Given the description of an element on the screen output the (x, y) to click on. 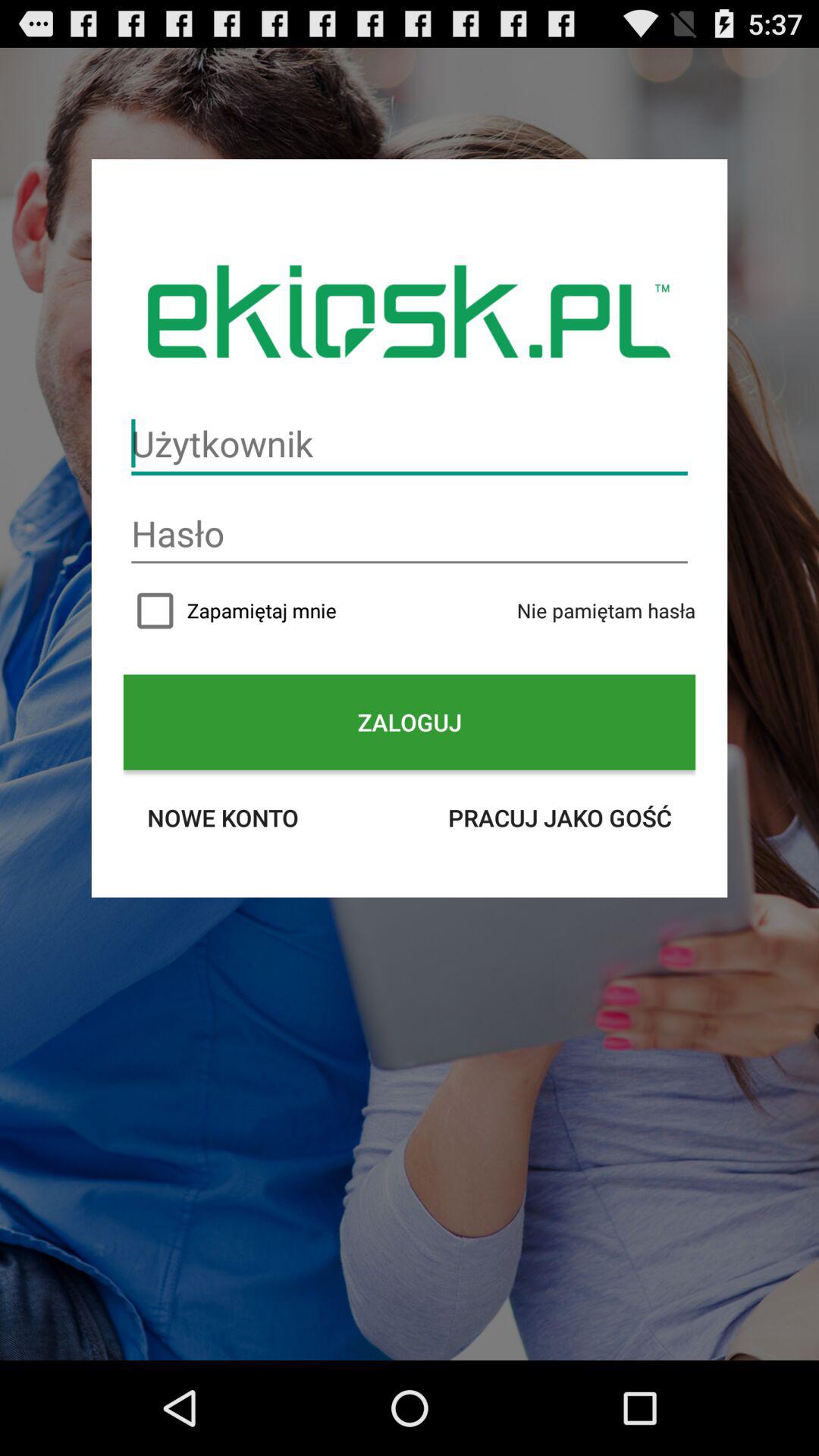
username box (409, 444)
